Given the description of an element on the screen output the (x, y) to click on. 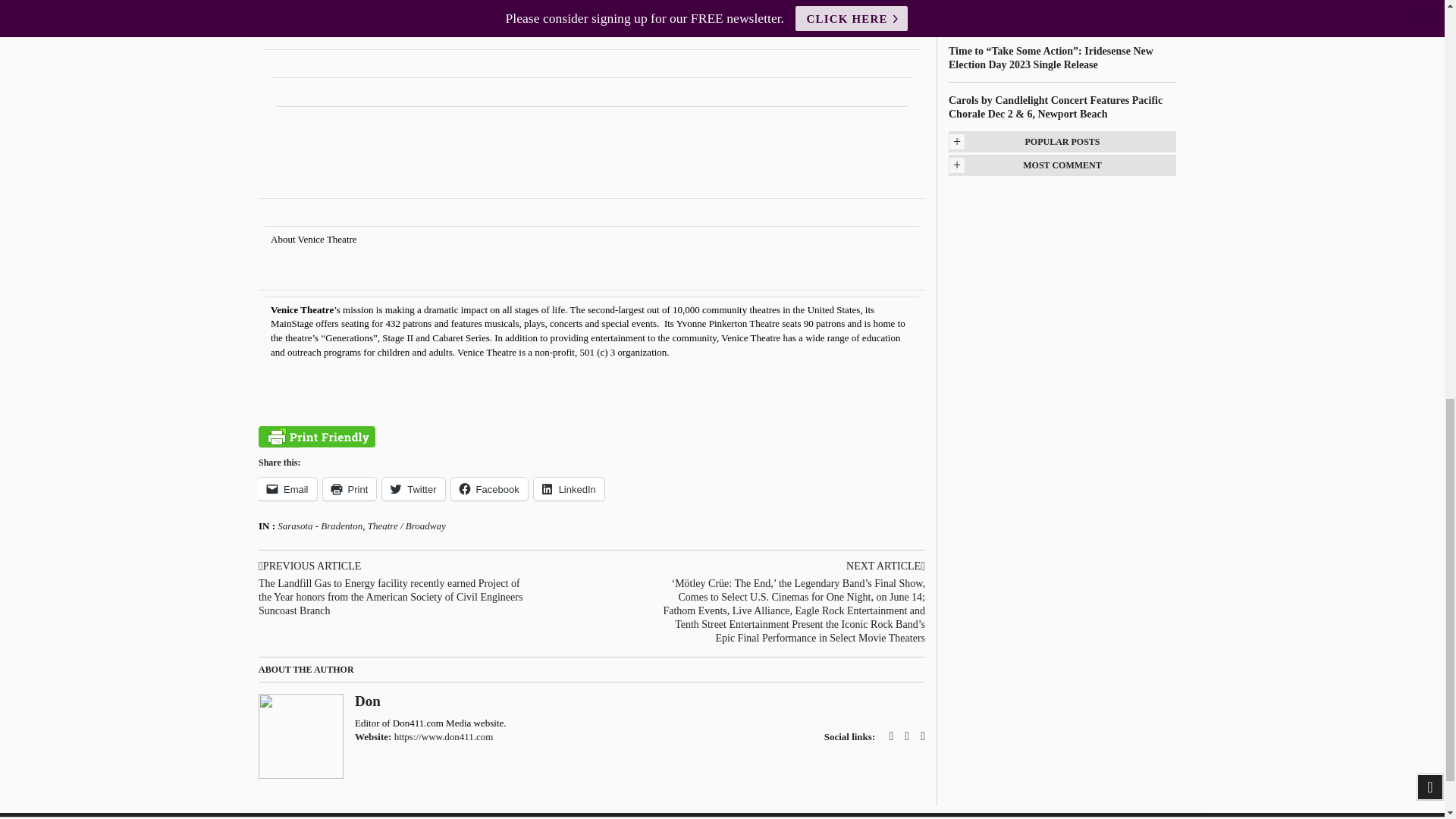
Click to share on LinkedIn (569, 488)
Twitter (412, 488)
NEXT ARTICLE (791, 566)
Print (350, 488)
Email (288, 488)
Click to share on Twitter (412, 488)
Click to email a link to a friend (288, 488)
Click to print (350, 488)
Sarasota - Bradenton (320, 525)
LinkedIn (569, 488)
Don (367, 700)
Facebook (489, 488)
PREVIOUS ARTICLE (392, 566)
Click to share on Facebook (489, 488)
